Given the description of an element on the screen output the (x, y) to click on. 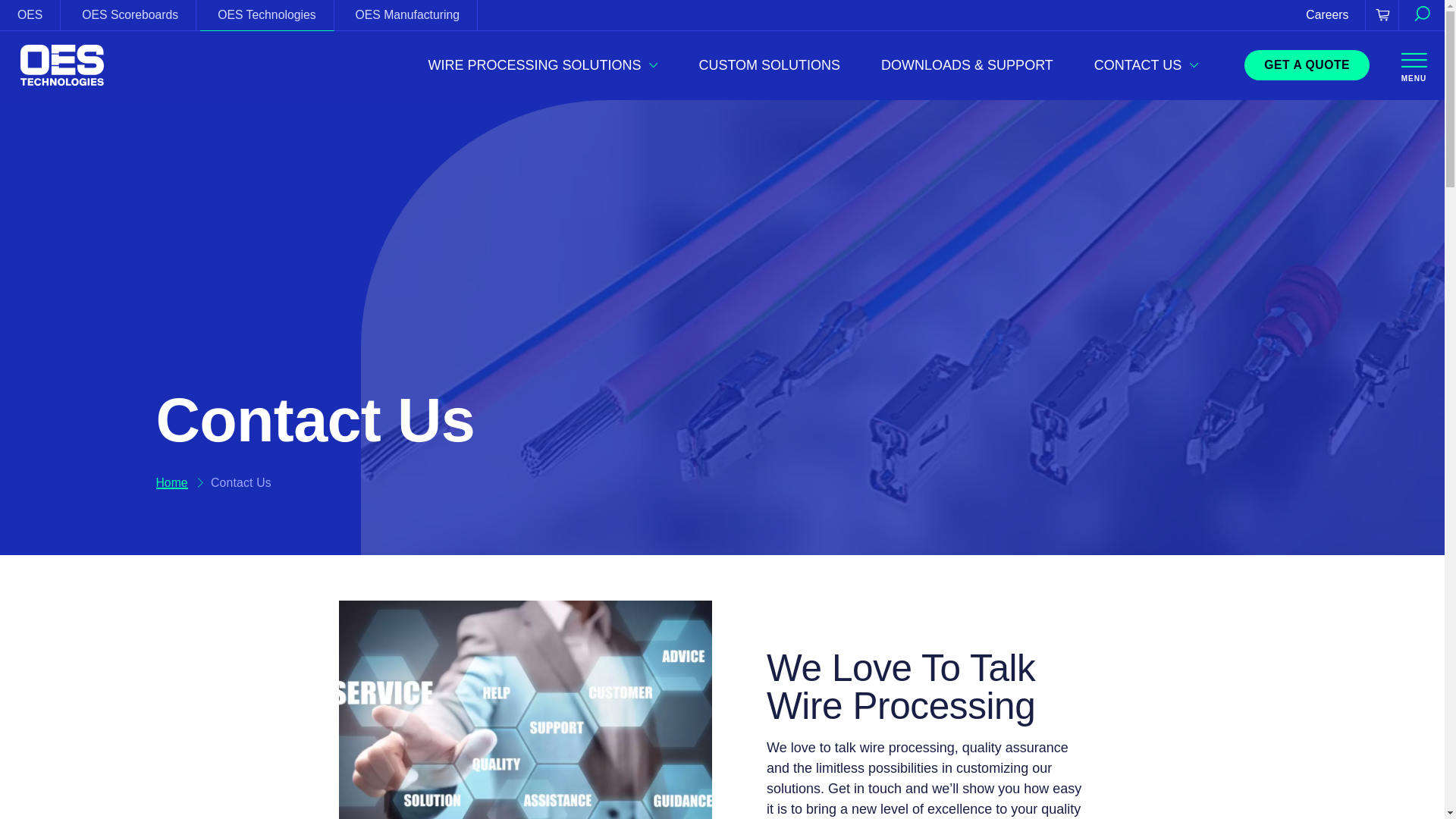
Cart (1382, 15)
Home (61, 65)
OES (29, 15)
GET A QUOTE (1307, 65)
Careers (1327, 15)
WIRE PROCESSING SOLUTIONS (542, 65)
OES Scoreboards (129, 15)
CUSTOM SOLUTIONS (769, 65)
OES Technologies (266, 15)
CONTACT US (1146, 65)
OES Manufacturing (407, 15)
